Given the description of an element on the screen output the (x, y) to click on. 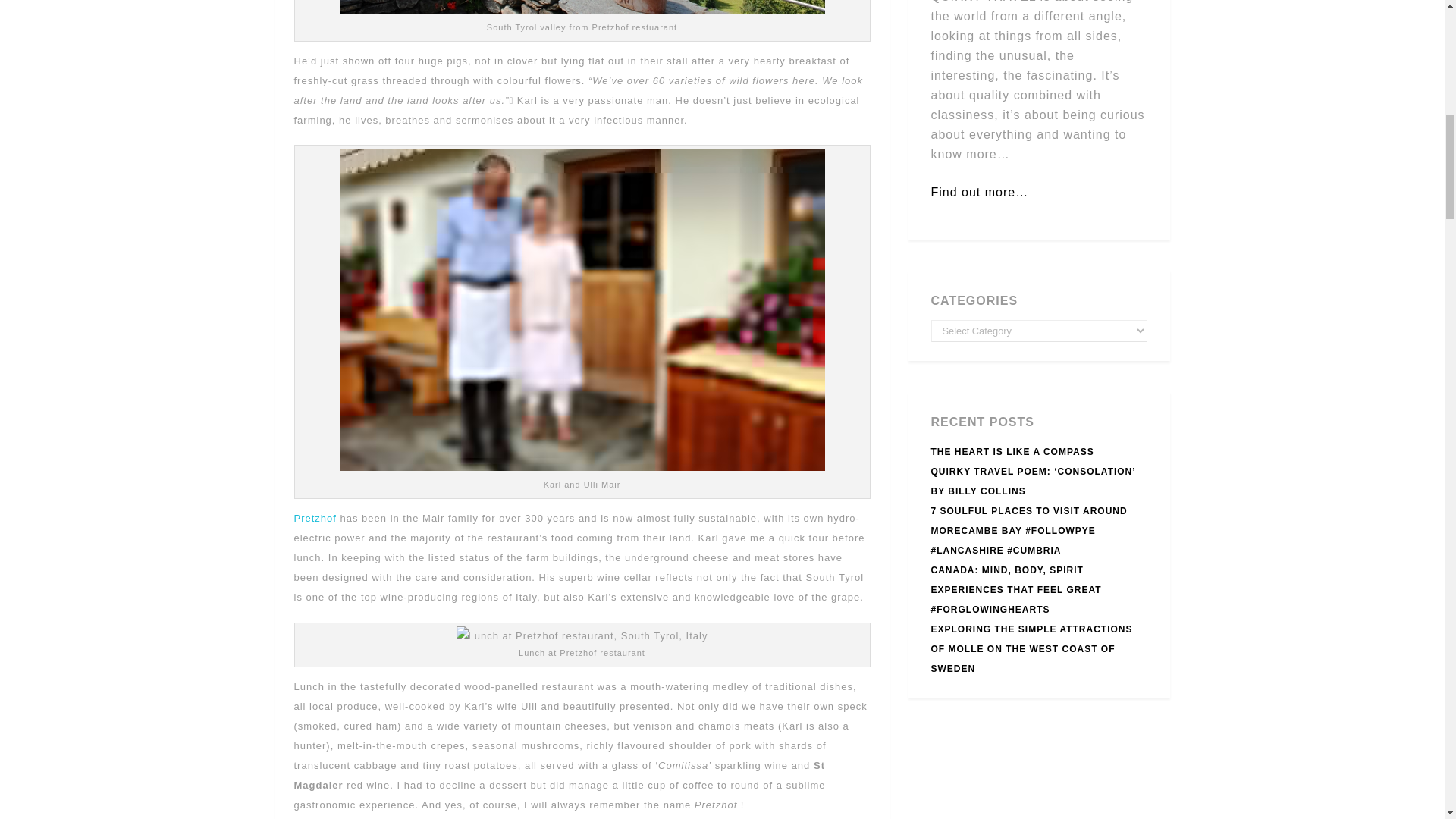
Pretzhof (315, 518)
Pretzhof (315, 518)
South Tyrol valley from Pretzhof restuarant (582, 6)
Lunch at Pretzhof restaurant (582, 636)
